Given the description of an element on the screen output the (x, y) to click on. 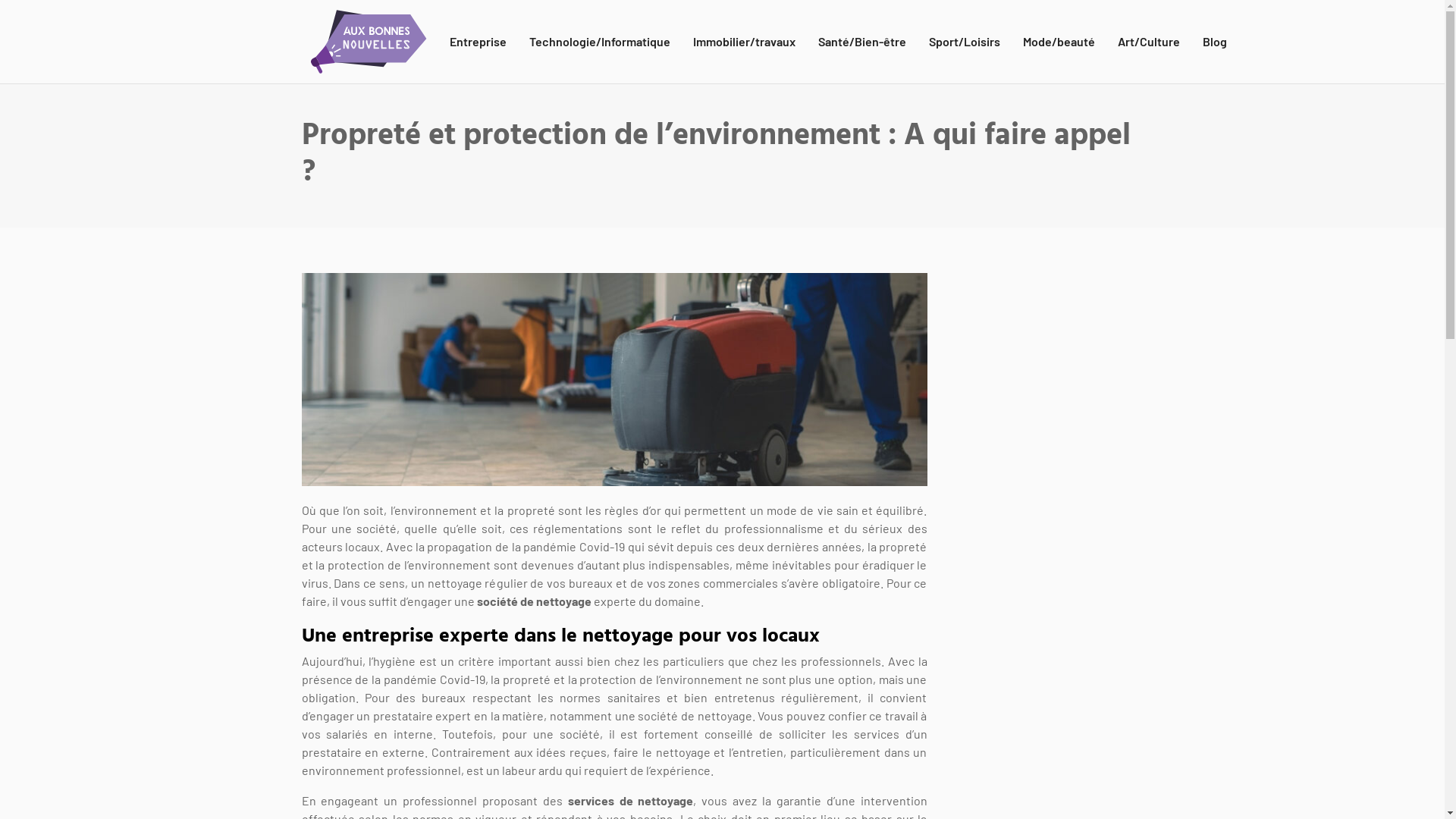
Art/Culture Element type: text (1148, 41)
Immobilier/travaux Element type: text (744, 41)
Entreprise Element type: text (476, 41)
Sport/Loisirs Element type: text (963, 41)
Technologie/Informatique Element type: text (599, 41)
Blog Element type: text (1214, 41)
